Given the description of an element on the screen output the (x, y) to click on. 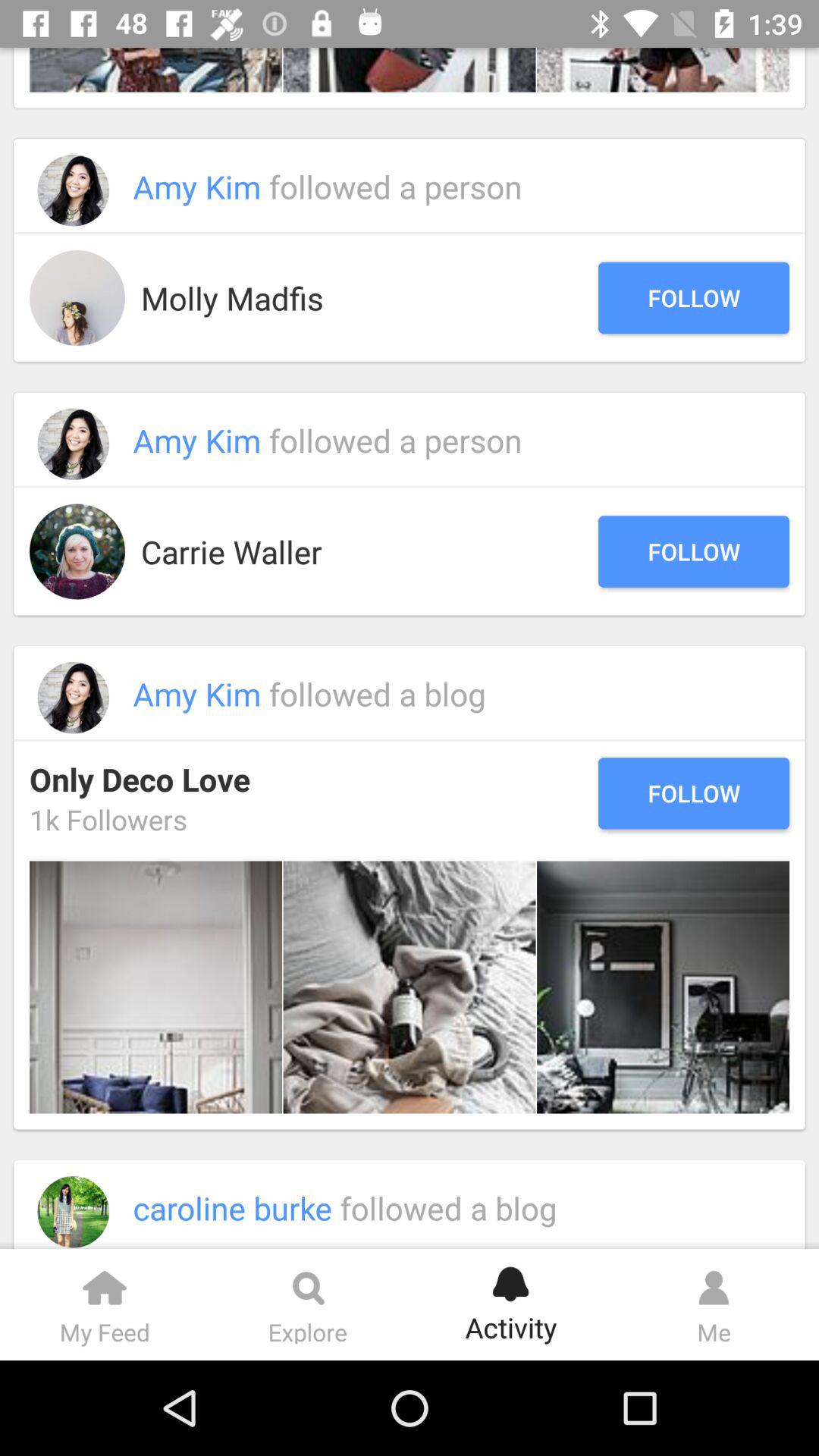
click on the icon above me which is at bottom right corner of the page (713, 1281)
